Given the description of an element on the screen output the (x, y) to click on. 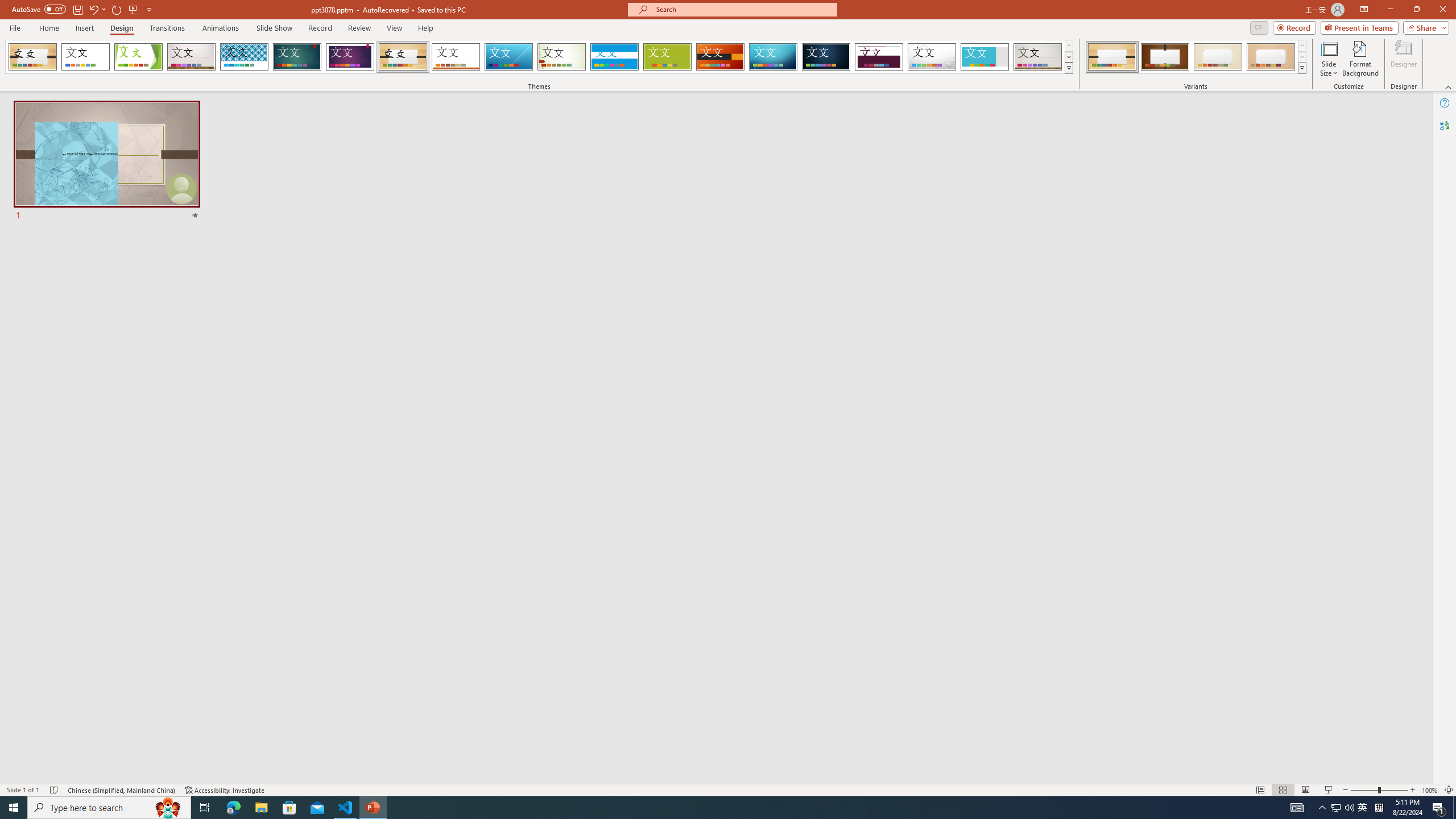
Organic (403, 56)
Basis (667, 56)
Droplet (931, 56)
Retrospect (455, 56)
Organic Variant 2 (1164, 56)
Frame (984, 56)
Damask (826, 56)
Organic Variant 1 (1112, 56)
